Given the description of an element on the screen output the (x, y) to click on. 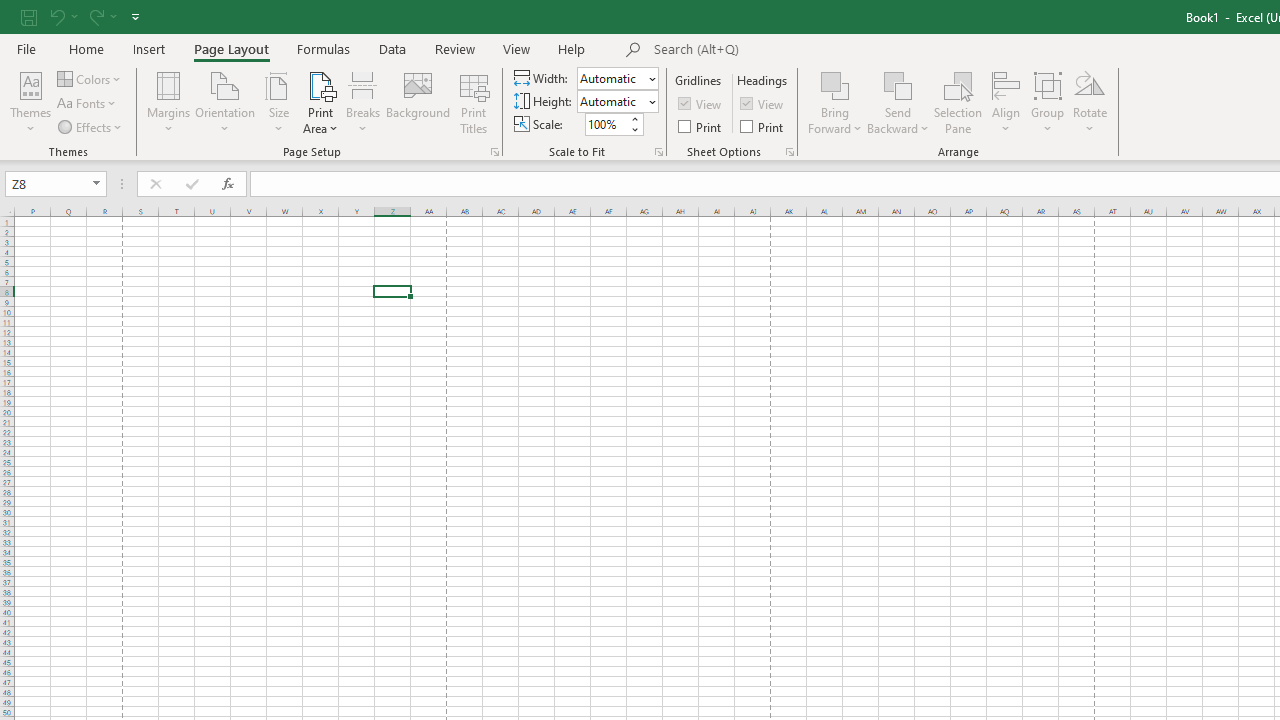
Breaks (362, 102)
Size (278, 102)
Send Backward (898, 84)
Less (633, 129)
Microsoft search (792, 49)
Bring Forward (835, 84)
Margins (168, 102)
Fonts (87, 103)
Height (611, 101)
Background... (418, 102)
Align (1005, 102)
